Given the description of an element on the screen output the (x, y) to click on. 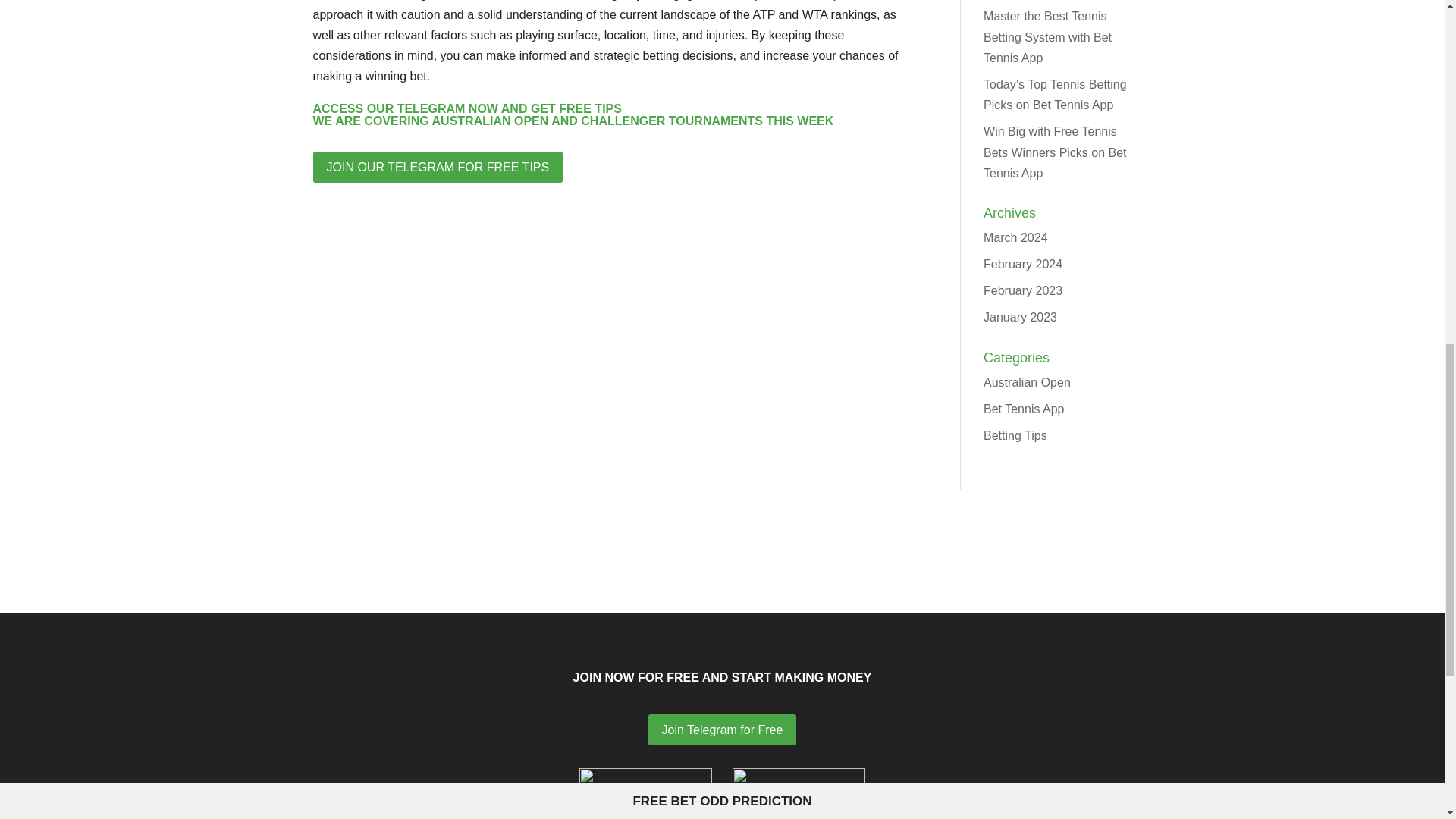
Join Telegram for Free (721, 729)
Master the Best Tennis Betting System with Bet Tennis App (1048, 36)
February 2023 (1023, 290)
March 2024 (1016, 237)
February 2024 (1023, 264)
Australian Open (1027, 382)
January 2023 (1020, 317)
Betting Tips (1015, 435)
JOIN OUR TELEGRAM FOR FREE TIPS (437, 166)
